Given the description of an element on the screen output the (x, y) to click on. 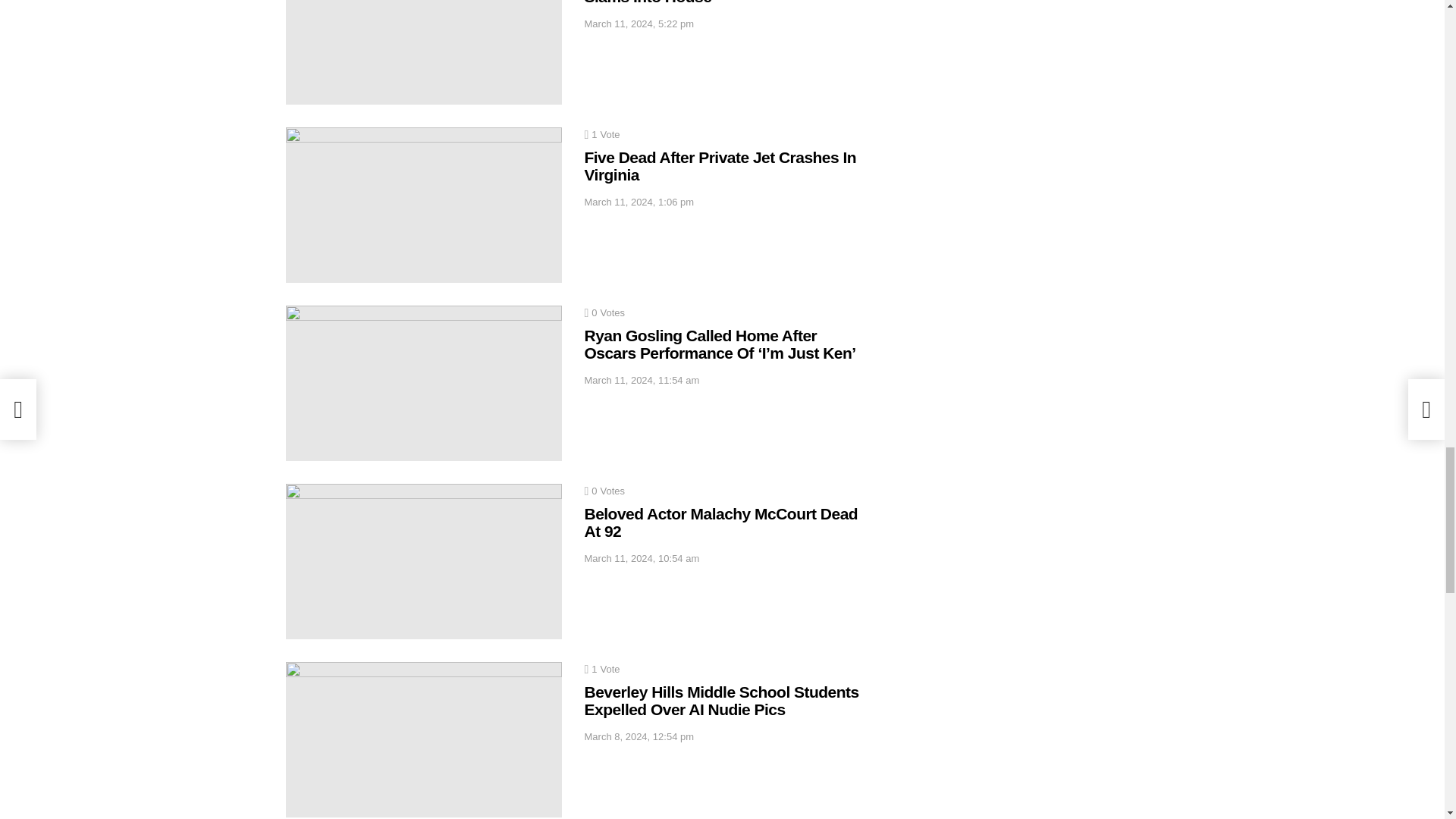
Beloved Actor Malachy McCourt Dead At 92 (422, 561)
Four Injured After Boston School Bus Slams Into House (718, 2)
Four Injured After Boston School Bus Slams Into House (422, 52)
Five Dead After Private Jet Crashes In Virginia (719, 166)
Beloved Actor Malachy McCourt Dead At 92 (720, 522)
Five Dead After Private Jet Crashes In Virginia (422, 204)
